Given the description of an element on the screen output the (x, y) to click on. 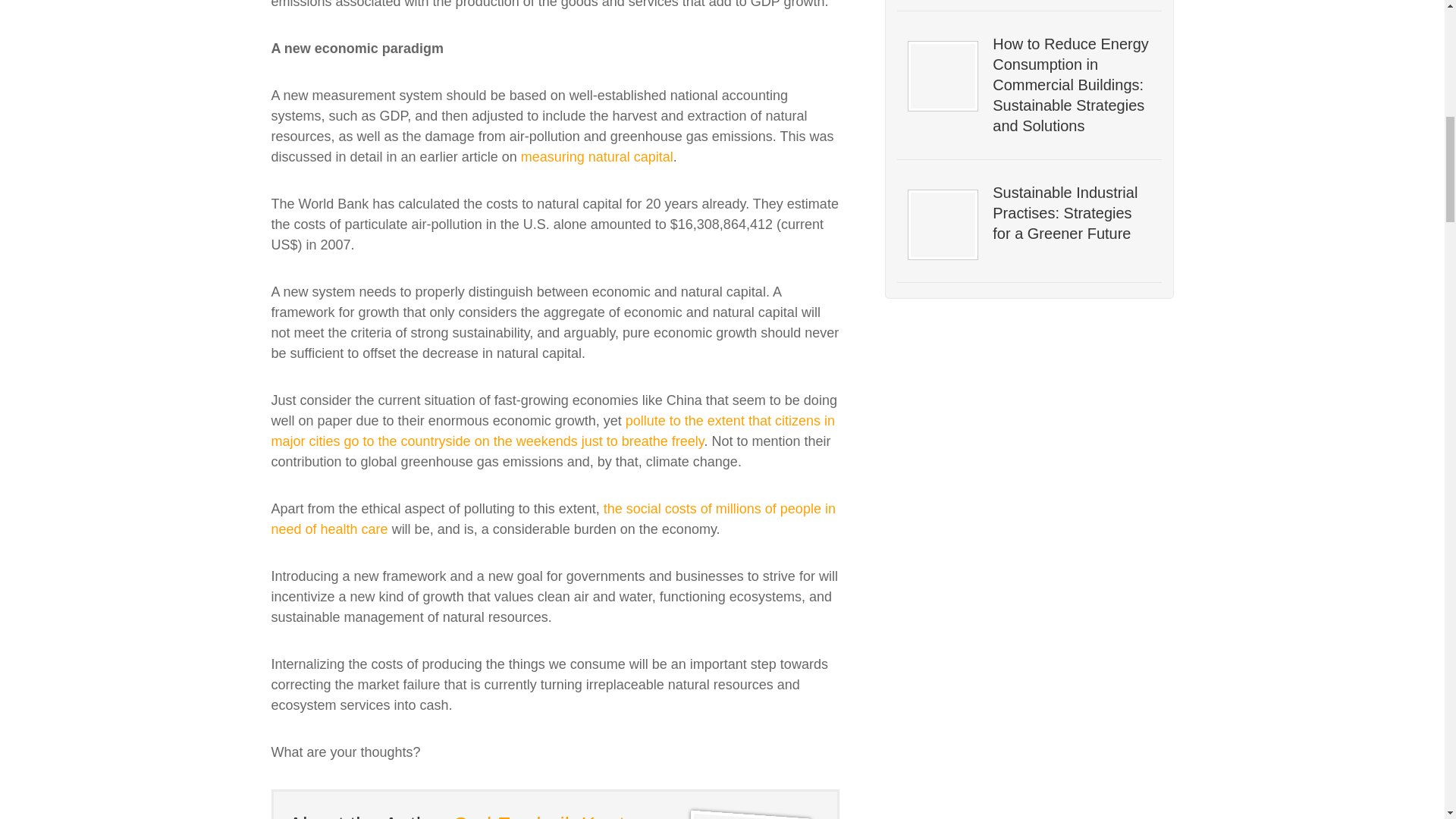
sperm-quality-in-china (552, 519)
measuring-natural-capital-valuing-sustainability (596, 156)
measuring natural capital (596, 156)
Carl Frederik Kontny (549, 816)
